Given the description of an element on the screen output the (x, y) to click on. 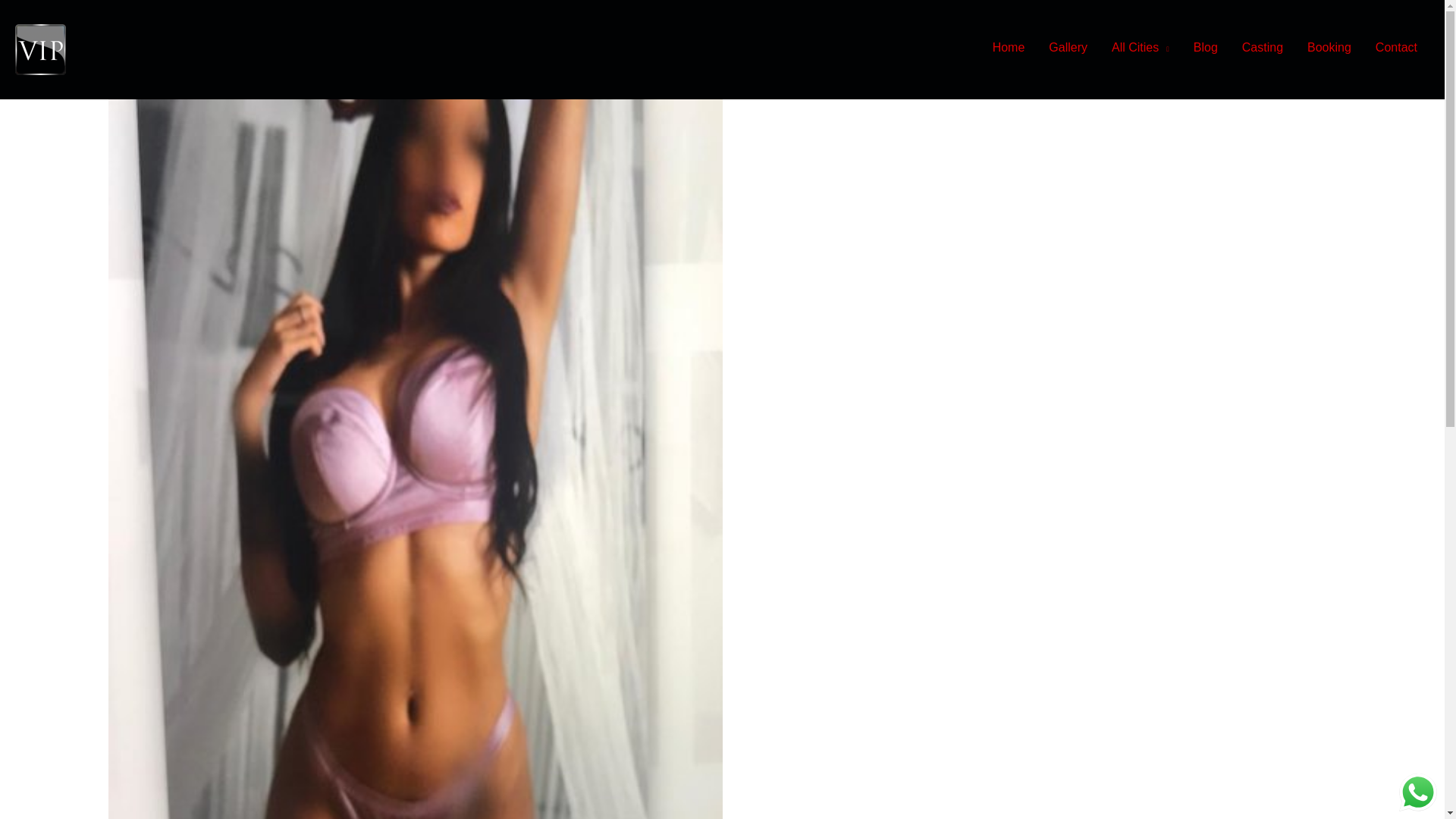
WhatsApp us (1418, 792)
Booking (1328, 47)
Blog (1205, 47)
Gallery (1067, 47)
Contact (1395, 47)
Home (1007, 47)
Casting (1262, 47)
All Cities (1139, 47)
